Given the description of an element on the screen output the (x, y) to click on. 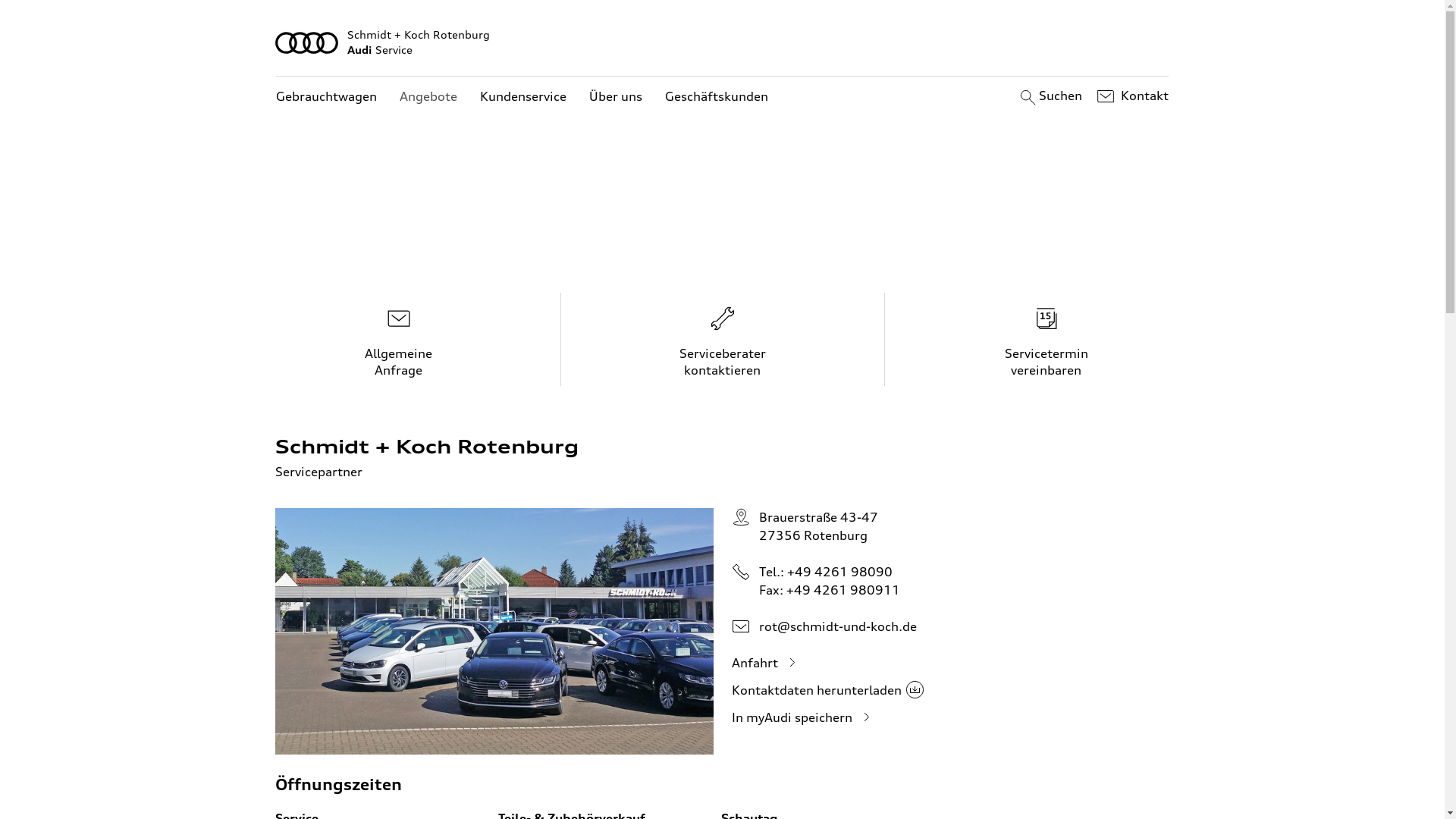
Kundenservice Element type: text (523, 96)
Kontaktdaten herunterladen Element type: text (827, 689)
Allgemeine
Anfrage Element type: text (398, 338)
Suchen Element type: text (1049, 96)
In myAudi speichern Element type: text (802, 717)
Schmidt + Koch Rotenburg
AudiService Element type: text (722, 42)
Angebote Element type: text (428, 96)
Gebrauchtwagen Element type: text (326, 96)
Servicetermin
vereinbaren Element type: text (1046, 338)
Serviceberater
kontaktieren Element type: text (722, 338)
Kontakt Element type: text (1130, 96)
+49 4261 98090 Element type: text (839, 571)
rot@schmidt-und-koch.de Element type: text (837, 626)
Anfahrt Element type: text (765, 662)
